Given the description of an element on the screen output the (x, y) to click on. 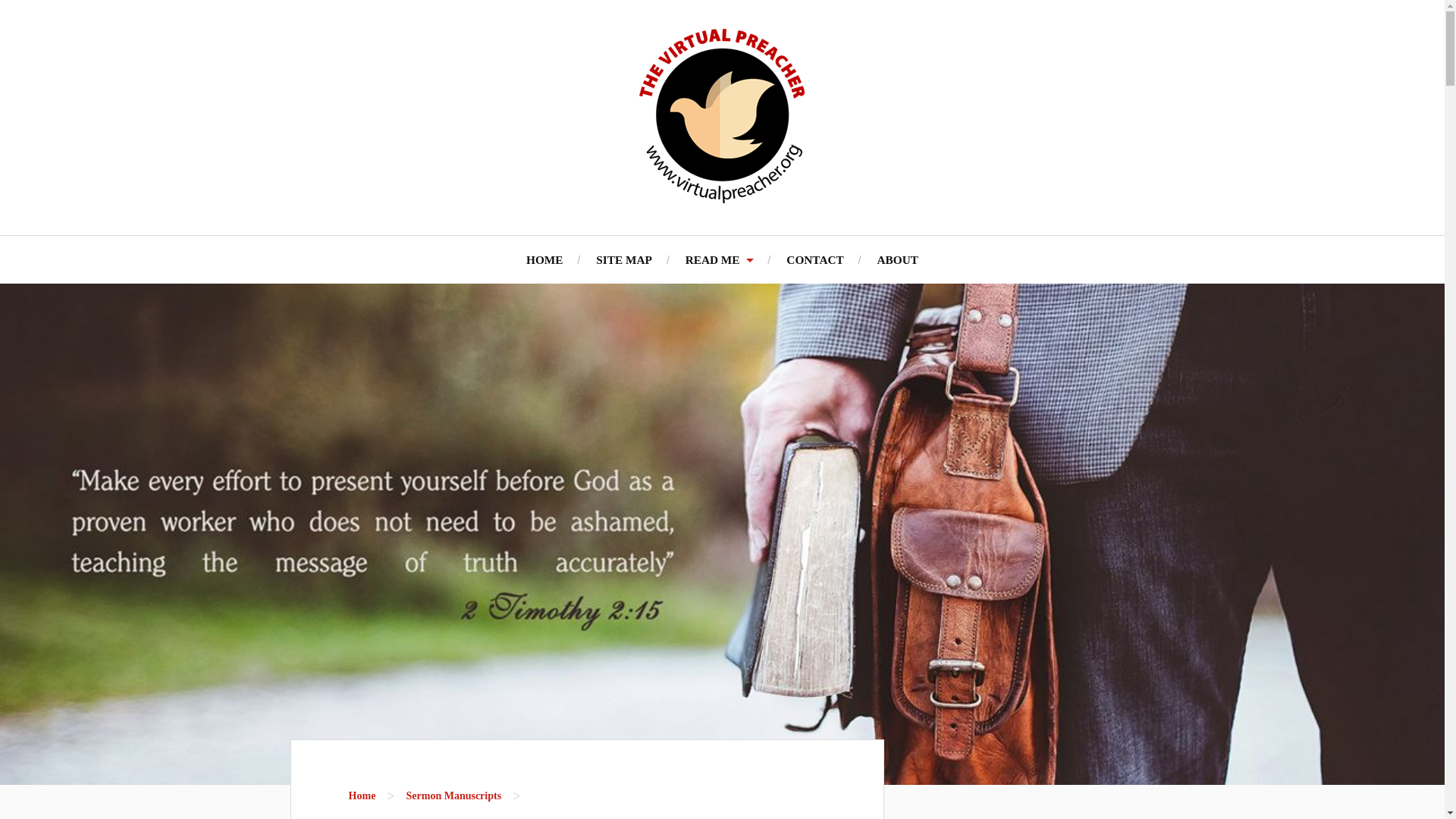
Home (362, 795)
Home (362, 795)
CONTACT (814, 259)
SITE MAP (623, 259)
READ ME (719, 259)
Sermon Manuscripts (454, 795)
Sermon Manuscripts (454, 795)
